Given the description of an element on the screen output the (x, y) to click on. 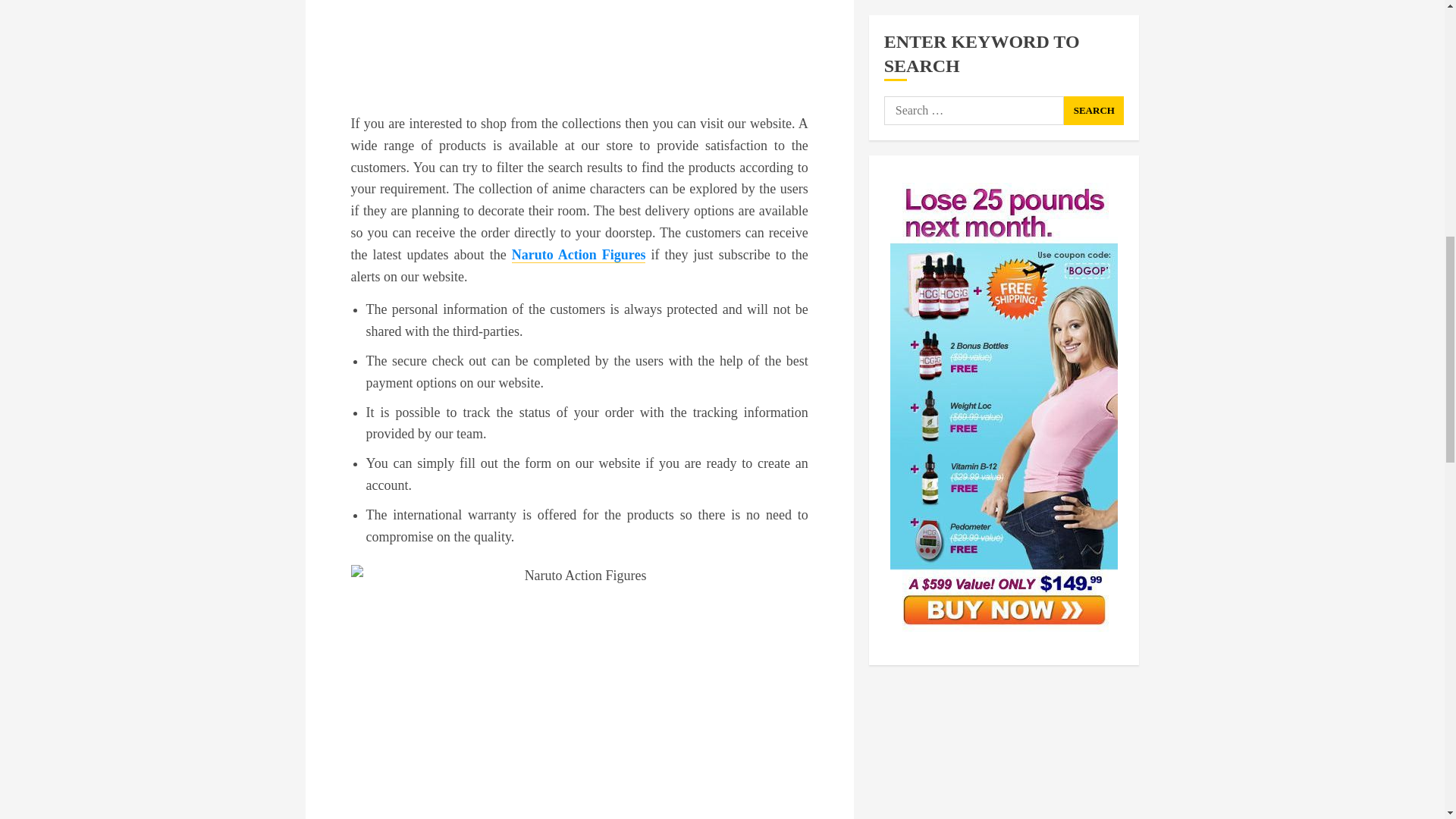
Naruto Action Figures (579, 254)
